Given the description of an element on the screen output the (x, y) to click on. 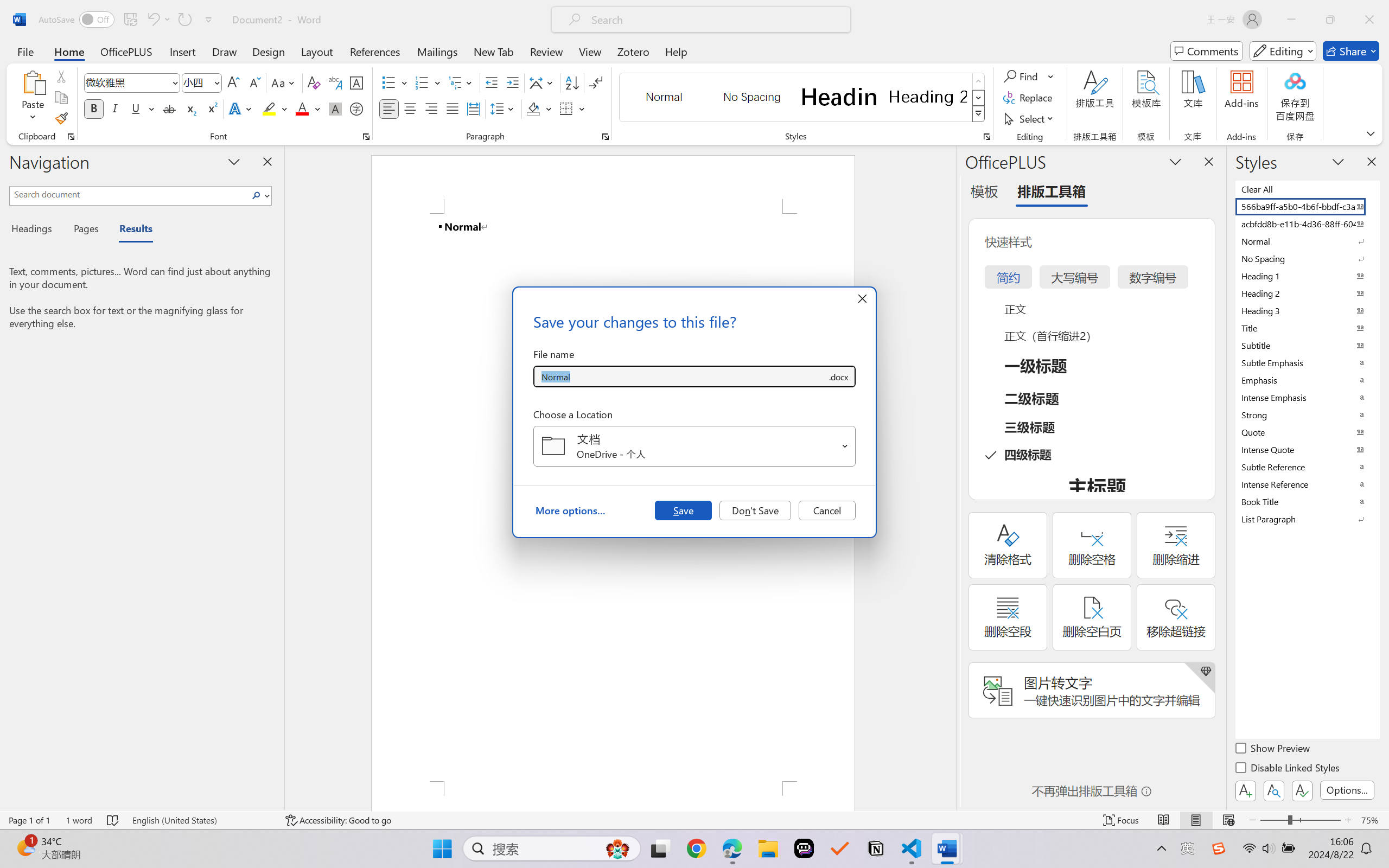
AutomationID: DynamicSearchBoxGleamImage (617, 848)
Align Right (431, 108)
Class: NetUIButton (1301, 790)
Paragraph... (605, 136)
List Paragraph (1306, 518)
Font (126, 82)
Zoom In (1348, 819)
Class: MsoCommandBar (694, 819)
Find (1029, 75)
